Given the description of an element on the screen output the (x, y) to click on. 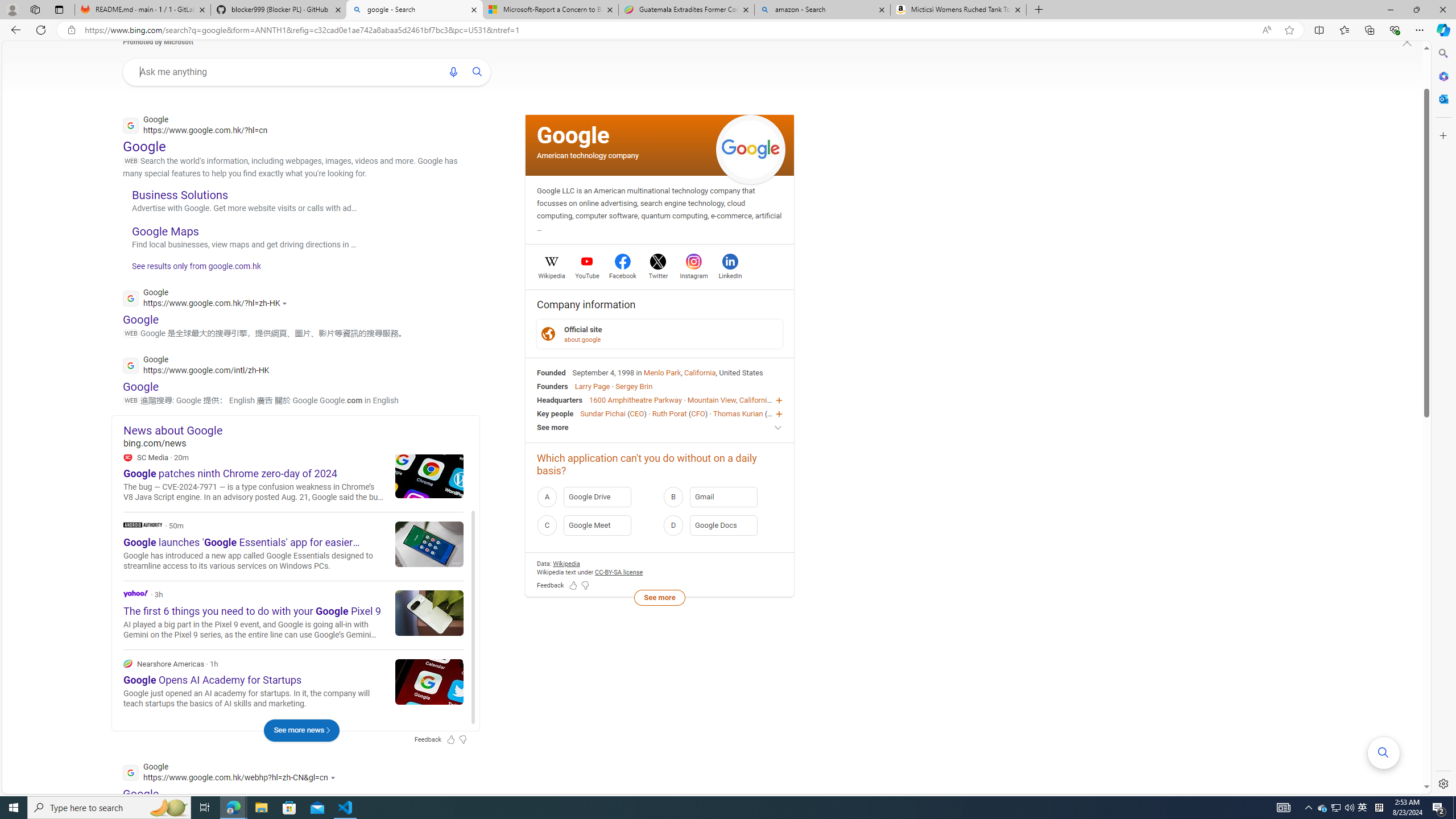
Collections (1369, 29)
Copilot (Ctrl+Shift+.) (1442, 29)
Menlo Park (662, 371)
Search (1442, 53)
C Google Meet (596, 525)
Data attribution Wikipedia (566, 563)
Settings (1442, 783)
Twitter (658, 274)
Split screen (1318, 29)
See more (659, 596)
Android Authority (293, 545)
